Given the description of an element on the screen output the (x, y) to click on. 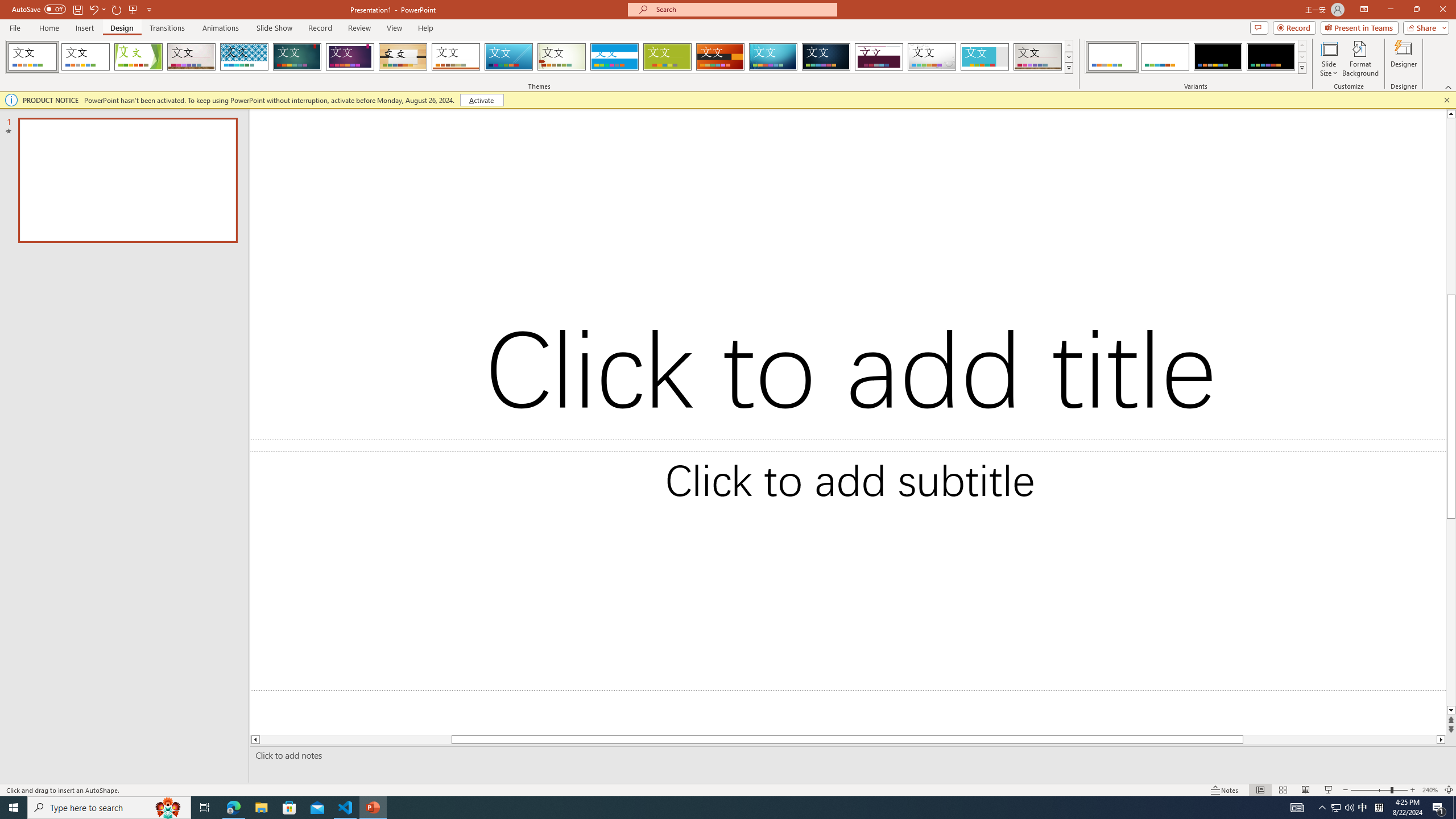
Circuit (772, 56)
Wisp (561, 56)
Facet (138, 56)
Office Theme Variant 2 (1164, 56)
